Given the description of an element on the screen output the (x, y) to click on. 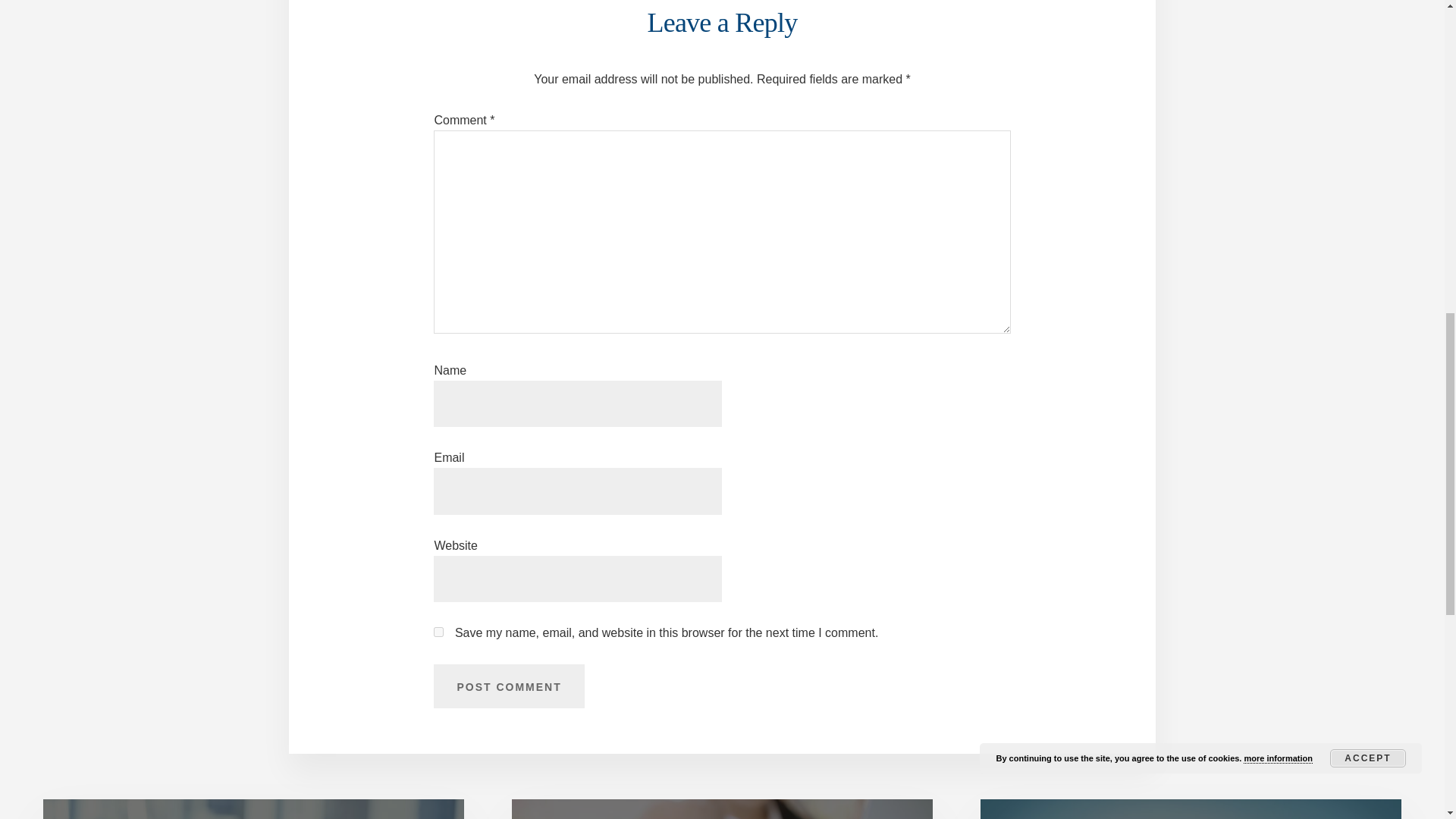
Post Comment (508, 686)
Courses (722, 809)
Shop (1189, 809)
About (253, 809)
Shop (1189, 809)
About Bill (253, 809)
yes (438, 632)
Courses (722, 809)
Post Comment (508, 686)
